Given the description of an element on the screen output the (x, y) to click on. 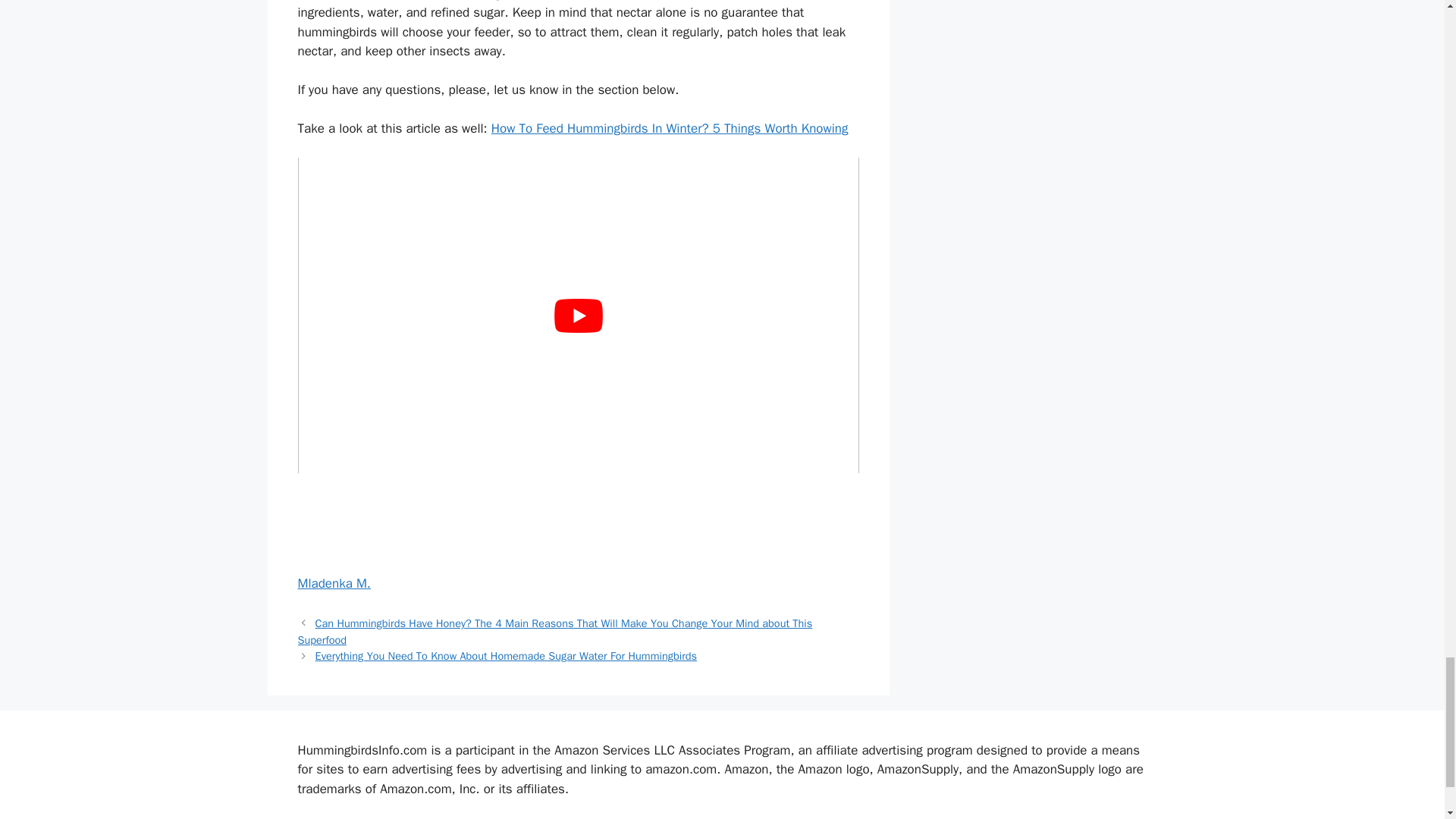
How To Feed Hummingbirds In Winter? 5 Things Worth Knowing (670, 128)
Mladenka M. (333, 583)
